Given the description of an element on the screen output the (x, y) to click on. 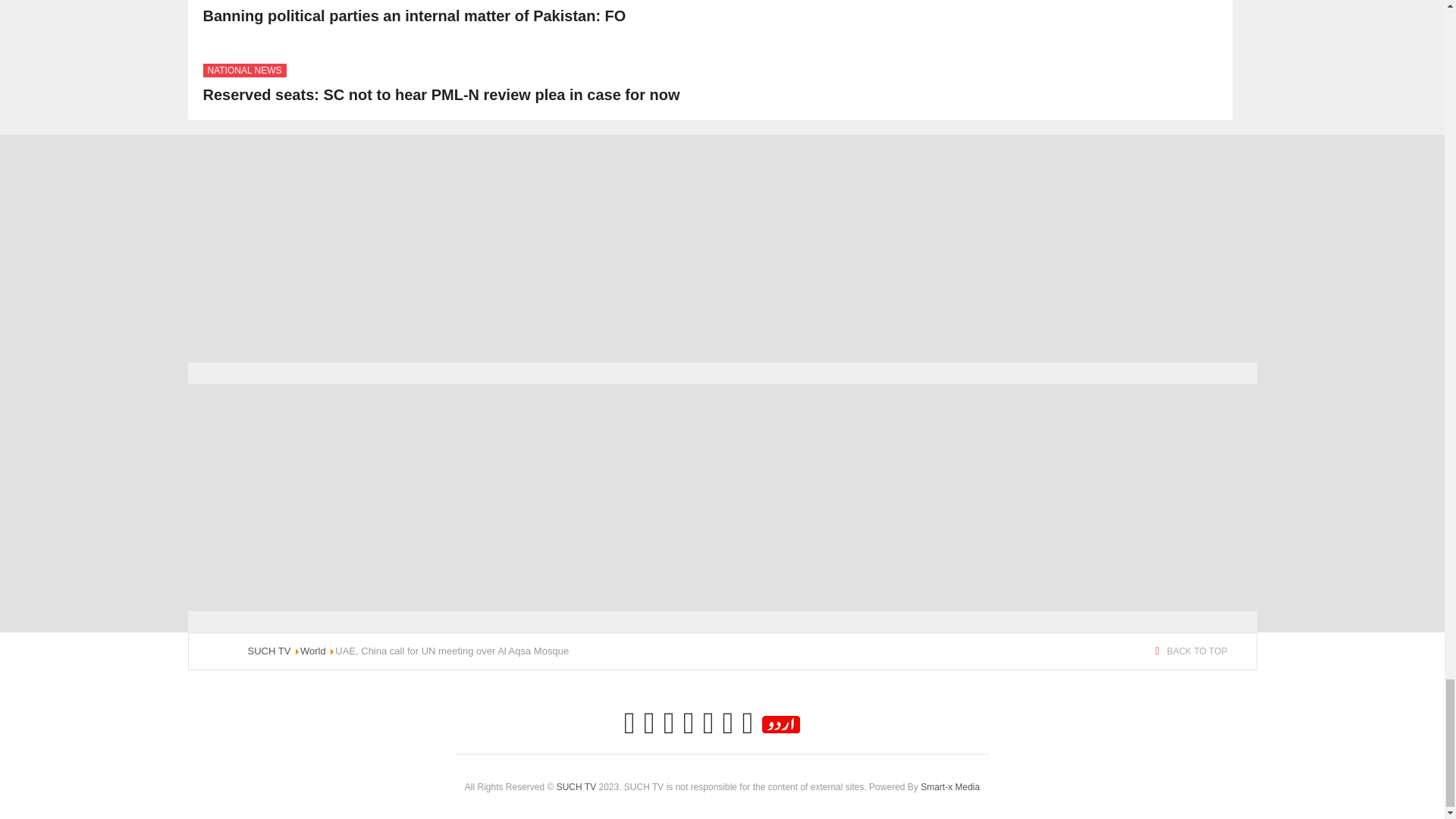
Banning political parties an internal matter of Pakistan: FO (414, 15)
